Given the description of an element on the screen output the (x, y) to click on. 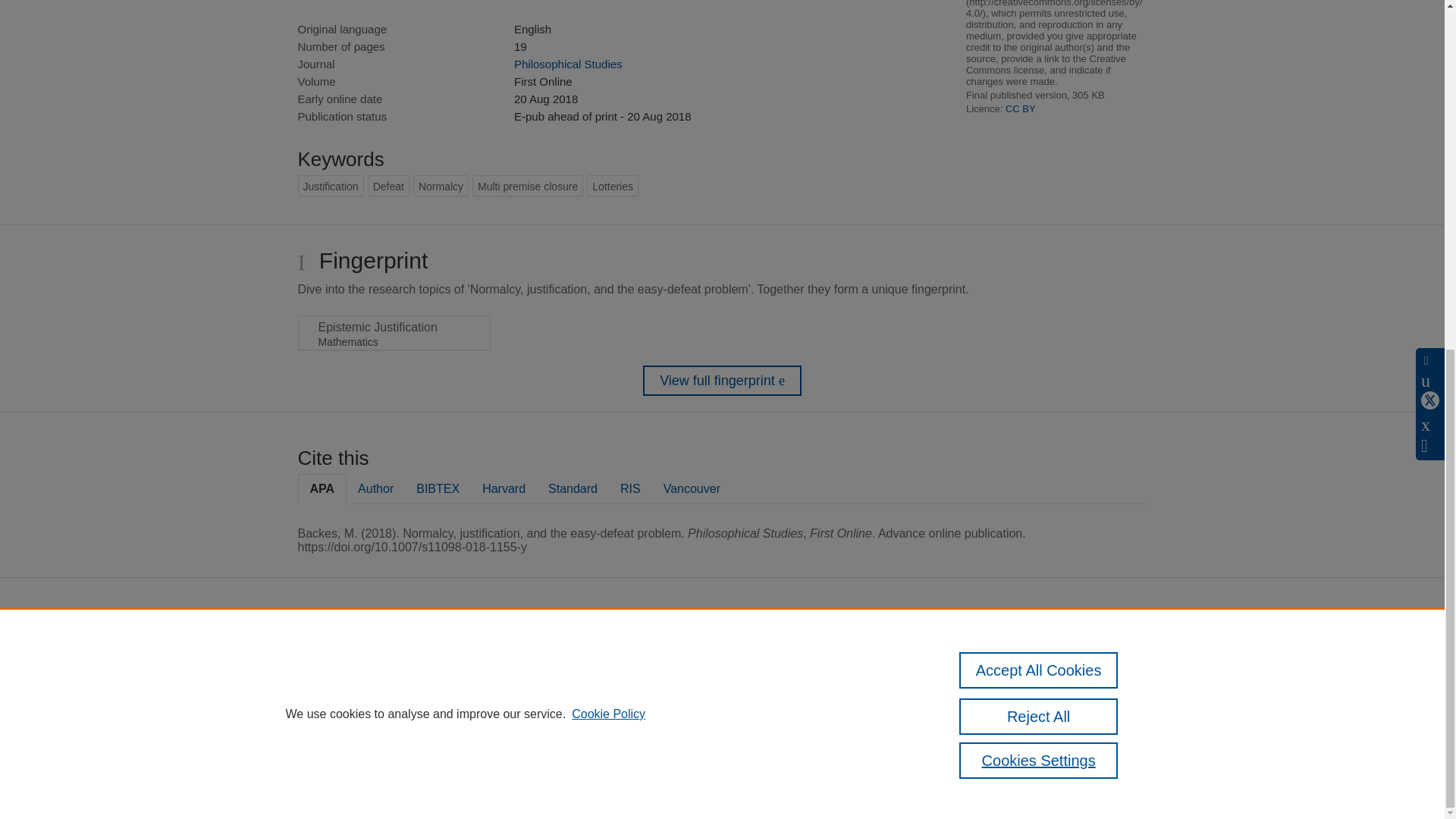
Scopus (652, 653)
Pure (620, 653)
Cookies Settings (591, 760)
use of cookies (708, 739)
View full fingerprint (722, 380)
Elsevier B.V. (764, 673)
Philosophical Studies (568, 63)
Log in to Pure (584, 781)
CC BY (1020, 108)
